Given the description of an element on the screen output the (x, y) to click on. 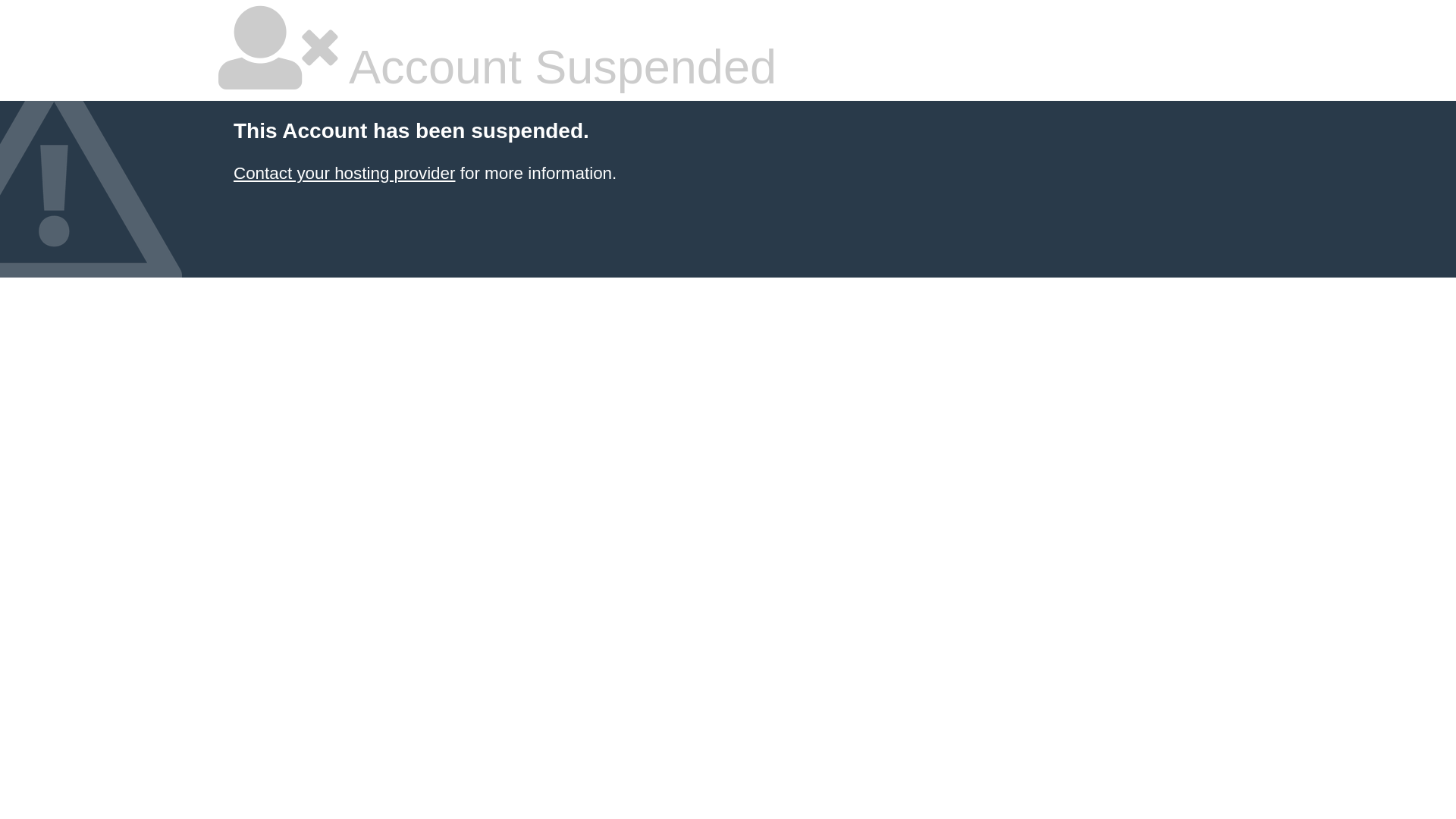
Contact your hosting provider Element type: text (344, 172)
